Given the description of an element on the screen output the (x, y) to click on. 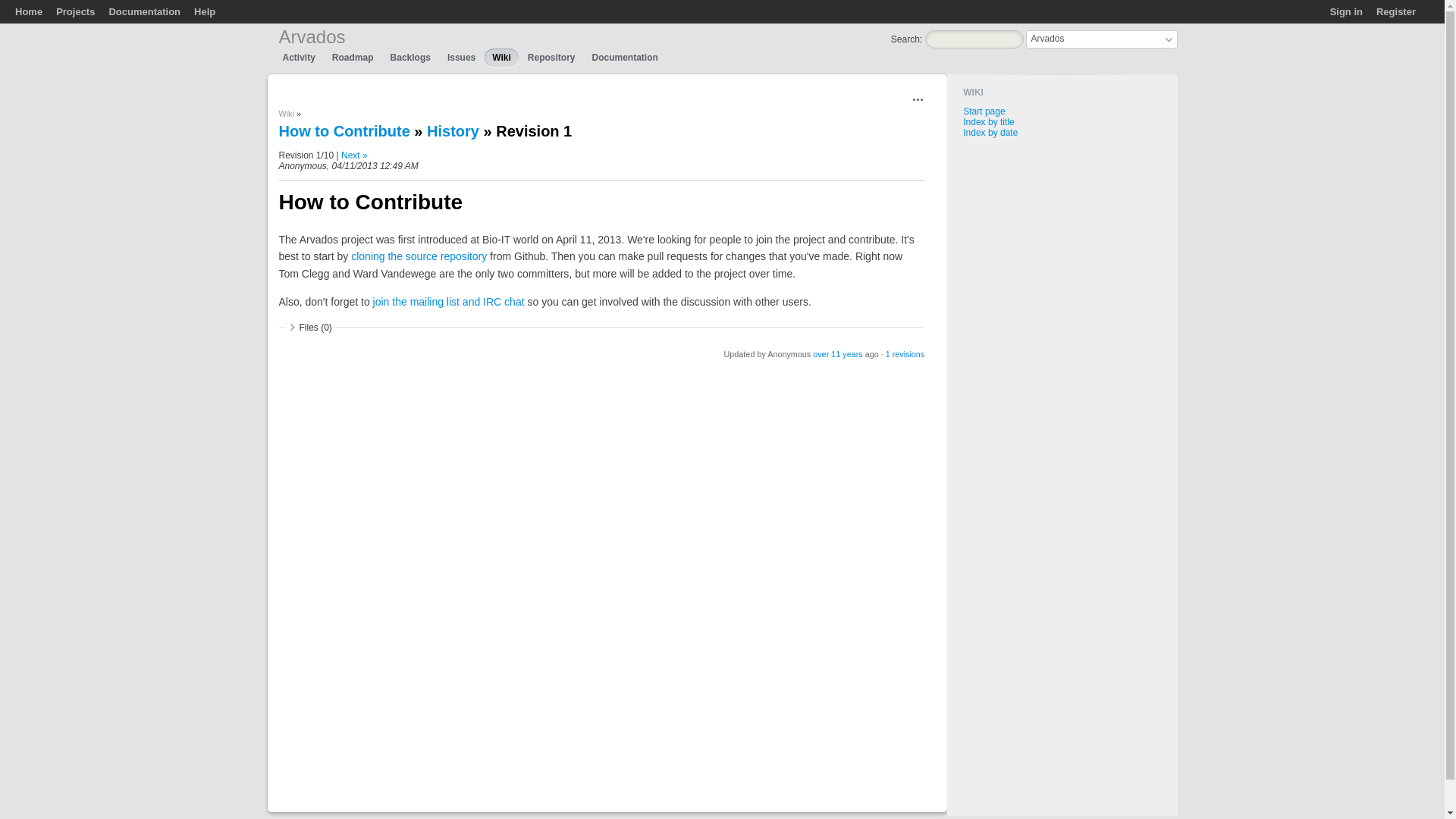
Projects (75, 11)
Wiki (501, 57)
Issues (461, 57)
How to Contribute (344, 130)
Index by date (989, 132)
Sign in (1346, 11)
Actions (918, 99)
Help (204, 11)
Documentation (143, 11)
Backlogs (410, 57)
